Given the description of an element on the screen output the (x, y) to click on. 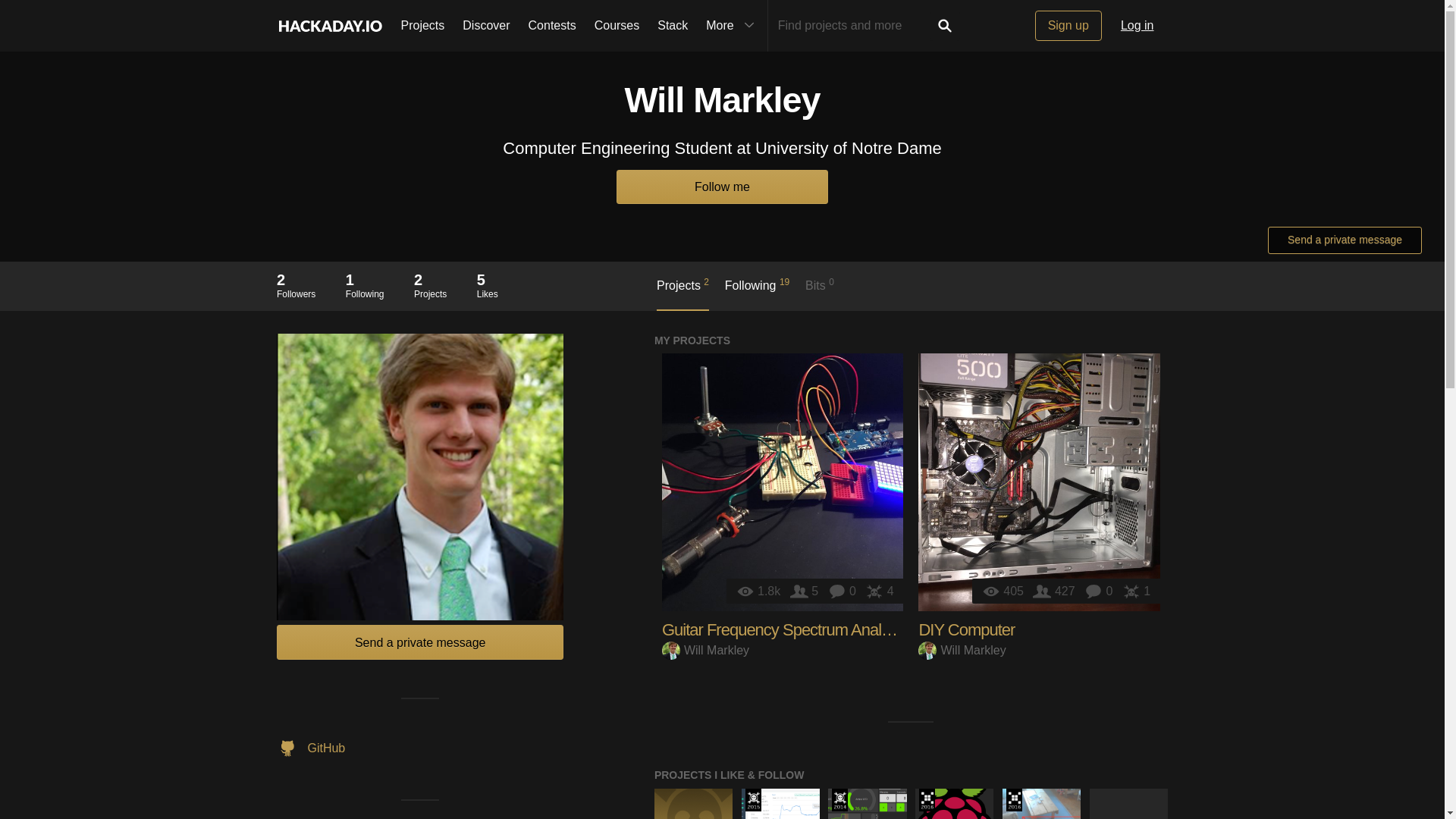
Comments (844, 590)
Contests (552, 25)
Comments (1100, 590)
Likes (878, 590)
DIY Computer (966, 629)
Projects 2 (365, 285)
405 427 0 1 (682, 293)
Followers (1039, 481)
Discover (1055, 590)
